Given the description of an element on the screen output the (x, y) to click on. 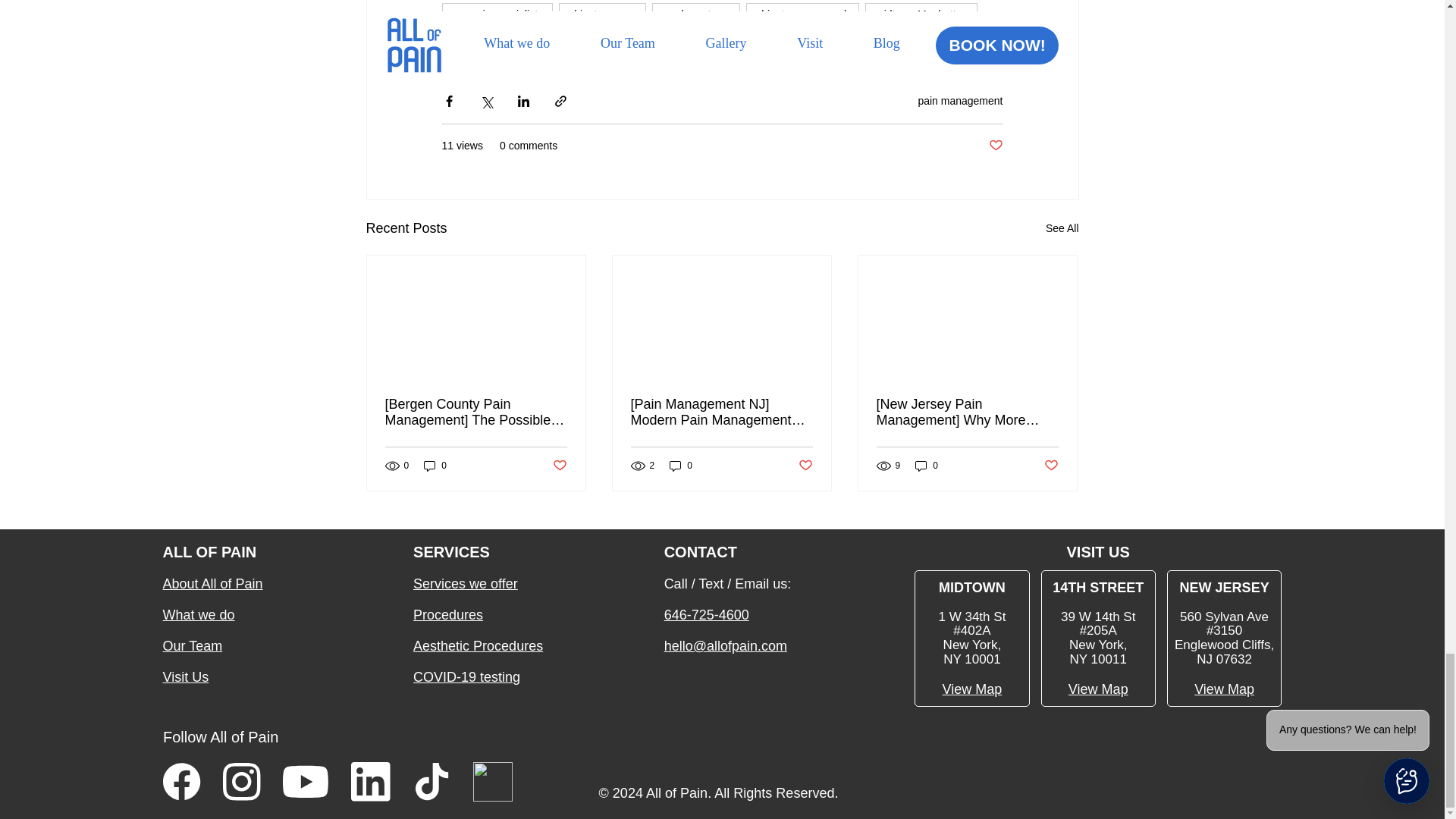
nyc pain specialists (497, 14)
chinatown new york (802, 14)
nyc koreatown (695, 14)
chinatown nyc (602, 14)
